Given the description of an element on the screen output the (x, y) to click on. 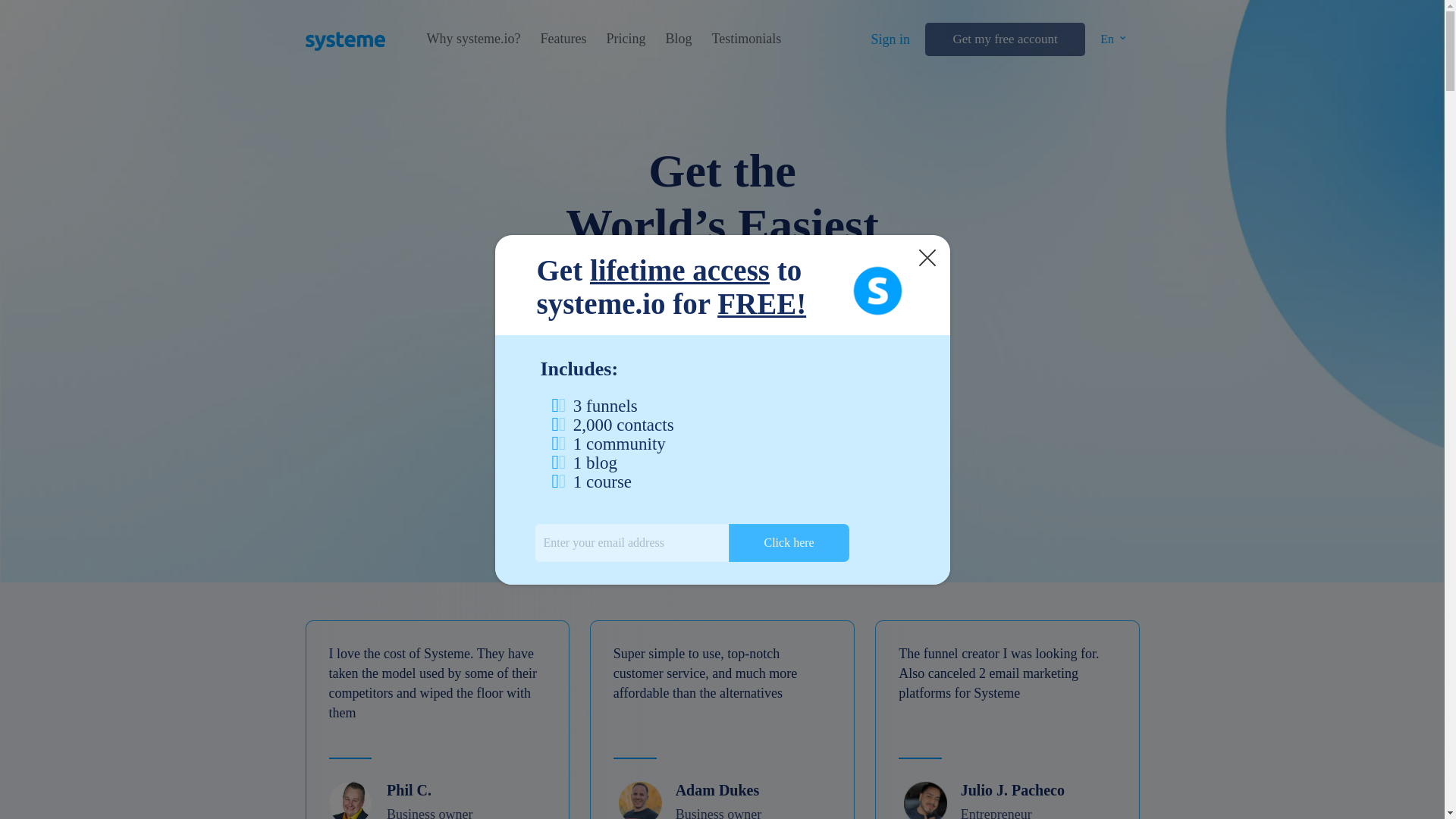
Sign in (890, 39)
Testimonials (745, 38)
Get my free account (1004, 39)
Blog (678, 38)
Why systeme.io? (472, 38)
Pricing (625, 38)
Features (563, 38)
